Given the description of an element on the screen output the (x, y) to click on. 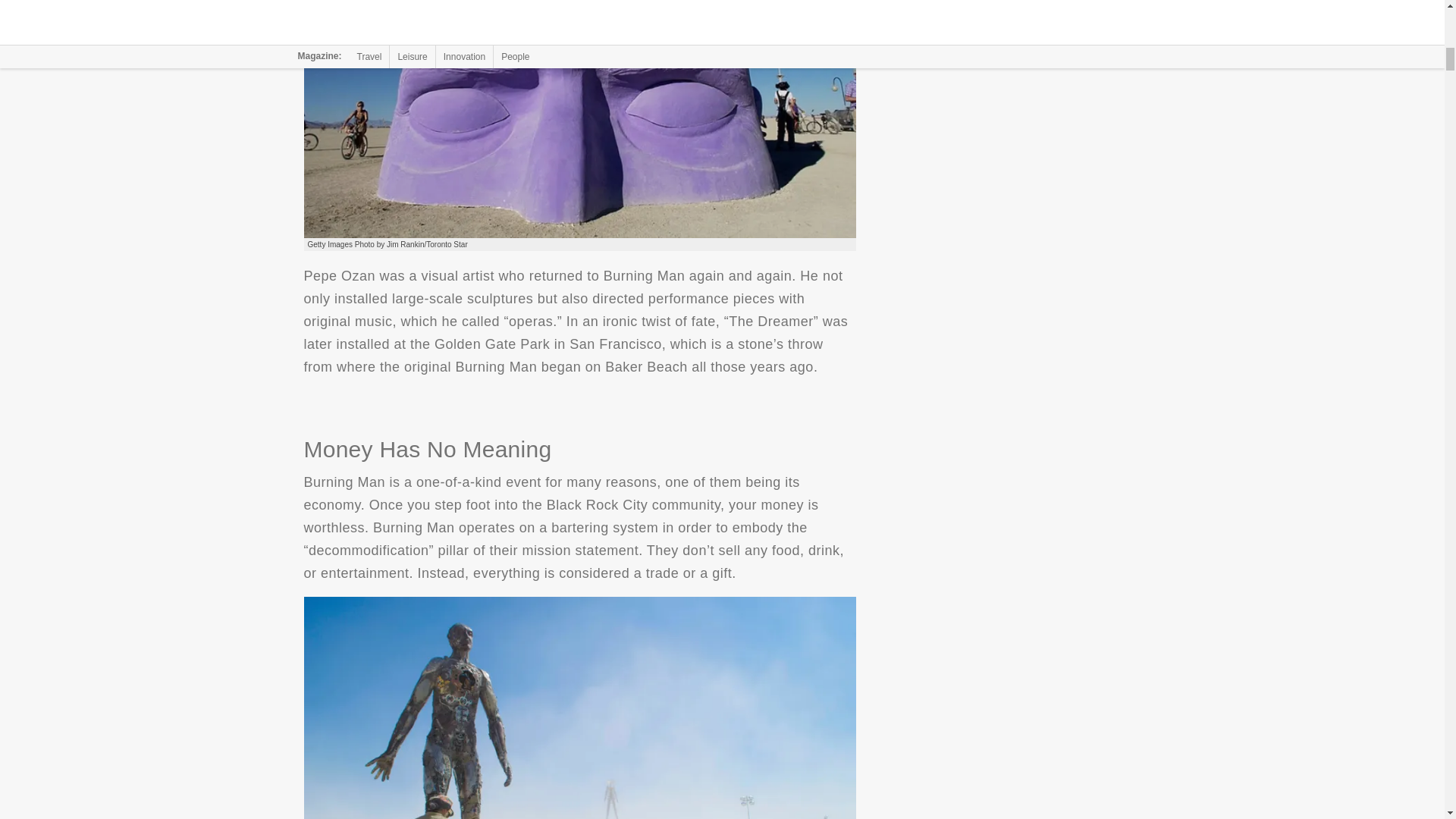
A Waking Dream (579, 119)
Money Has No Meaning (579, 708)
